Given the description of an element on the screen output the (x, y) to click on. 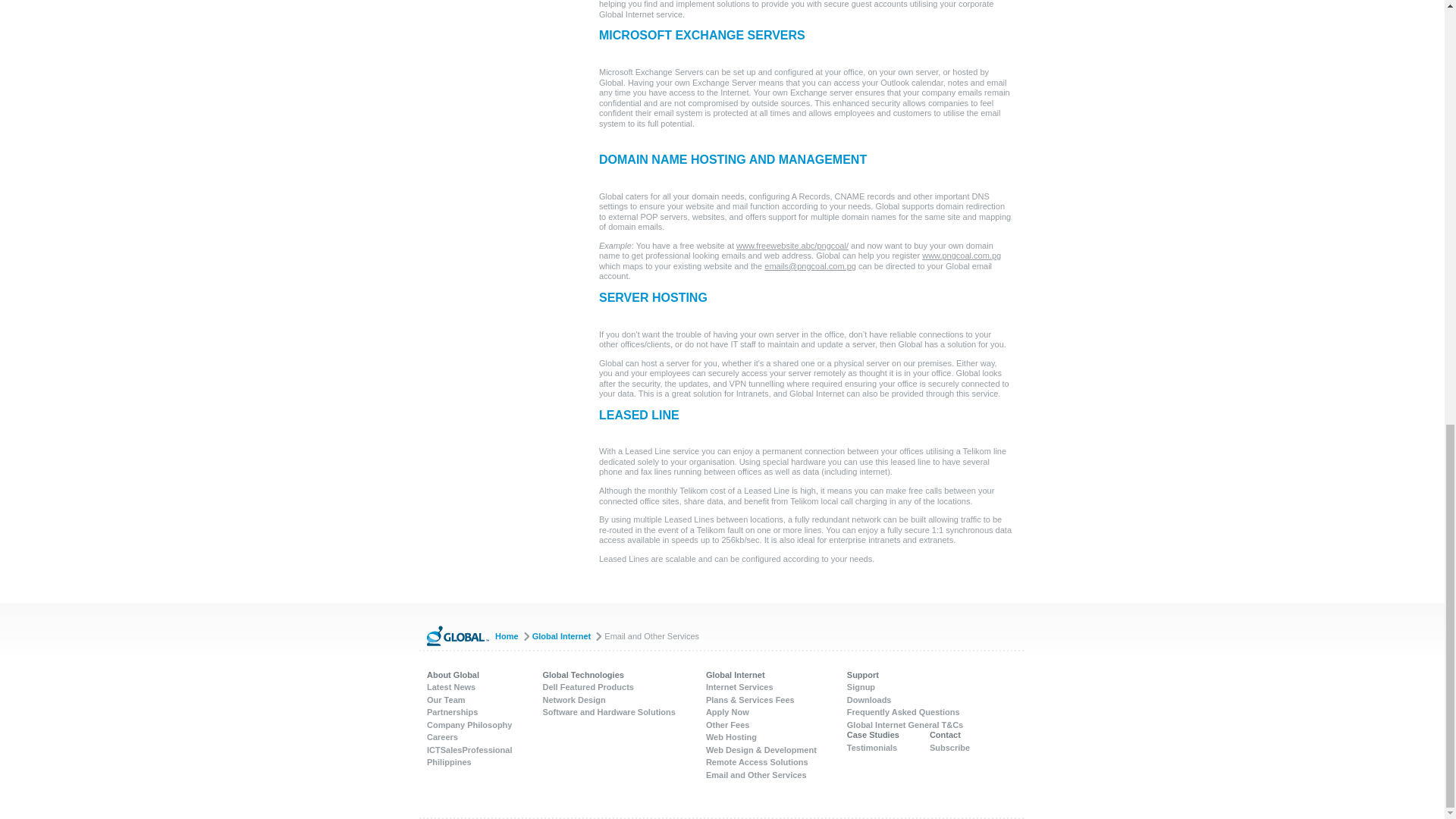
Our Team (445, 699)
Global Internet (567, 635)
Dell Featured Products (588, 686)
Network Design (574, 699)
Global Technologies (583, 674)
Company Philosophy (469, 724)
Email and Other Services (651, 635)
Careers (442, 737)
Partnerships (451, 711)
Software and Hardware Solutions (609, 711)
About Global (452, 674)
Home (512, 635)
Latest News (451, 686)
Philippines (448, 761)
ICTSalesProfessional (469, 749)
